Given the description of an element on the screen output the (x, y) to click on. 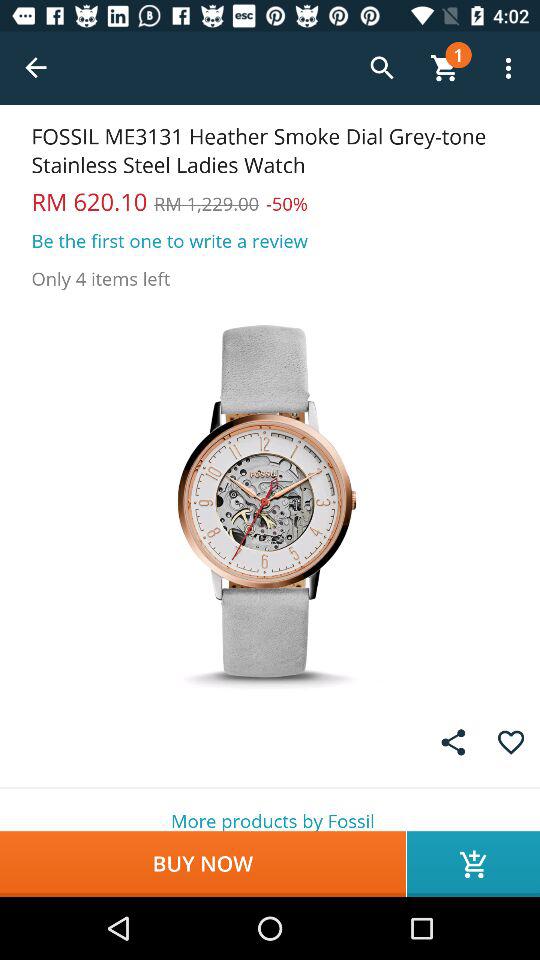
share the article (453, 742)
